Given the description of an element on the screen output the (x, y) to click on. 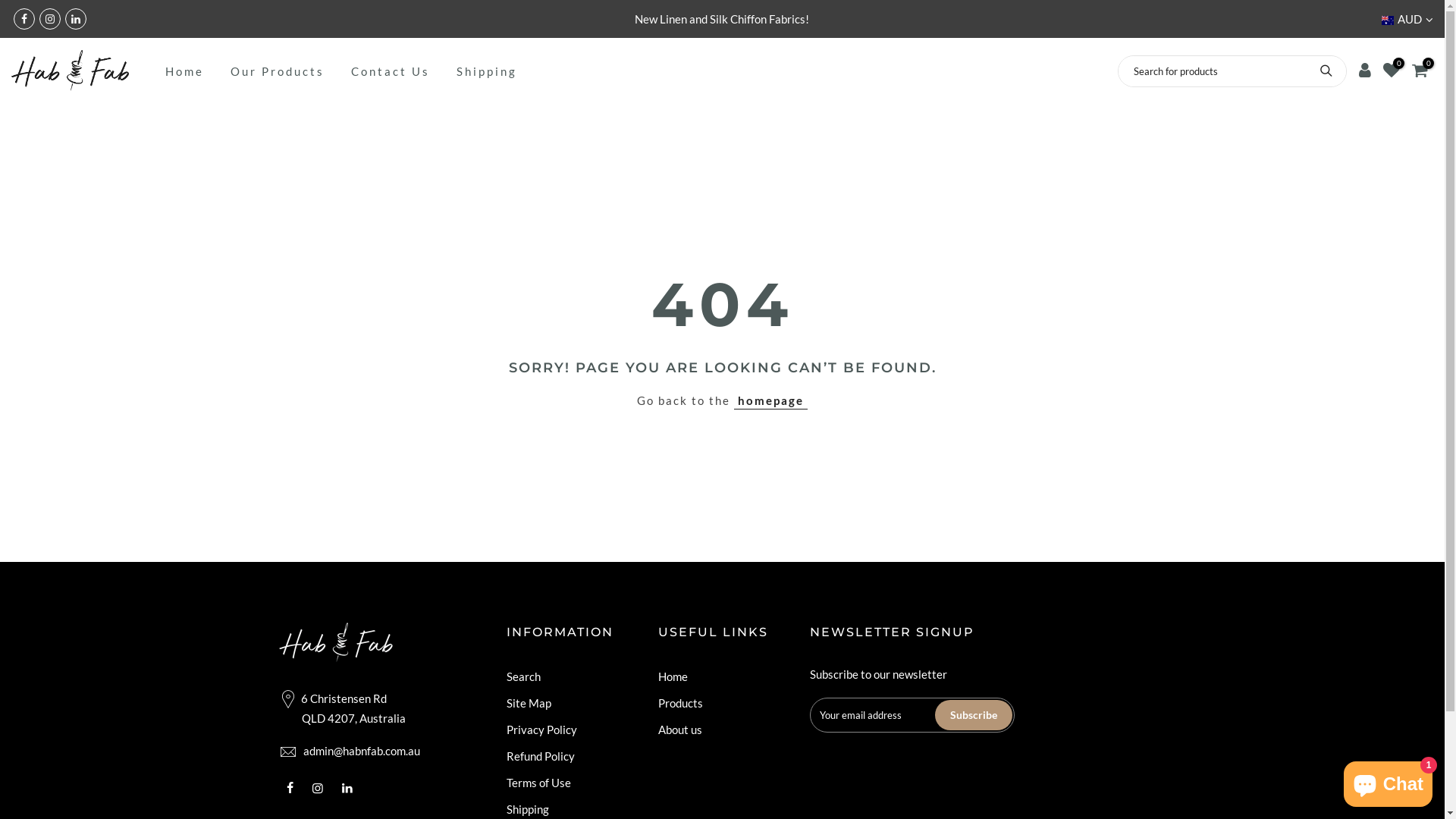
Shipping Element type: text (527, 808)
Search Element type: text (523, 676)
Refund Policy Element type: text (540, 755)
homepage Element type: text (770, 400)
0 Element type: text (1419, 71)
Site Map Element type: text (528, 702)
Our Products Element type: text (276, 70)
0 Element type: text (1391, 71)
Shipping Element type: text (486, 70)
Home Element type: text (672, 676)
About us Element type: text (680, 729)
Subscribe Element type: text (972, 714)
Home Element type: text (183, 70)
Products Element type: text (680, 702)
Terms of Use Element type: text (538, 782)
Shopify online store chat Element type: hover (1388, 780)
admin@habnfab.com.au Element type: text (361, 750)
Privacy Policy Element type: text (541, 729)
Contact Us Element type: text (389, 70)
